Given the description of an element on the screen output the (x, y) to click on. 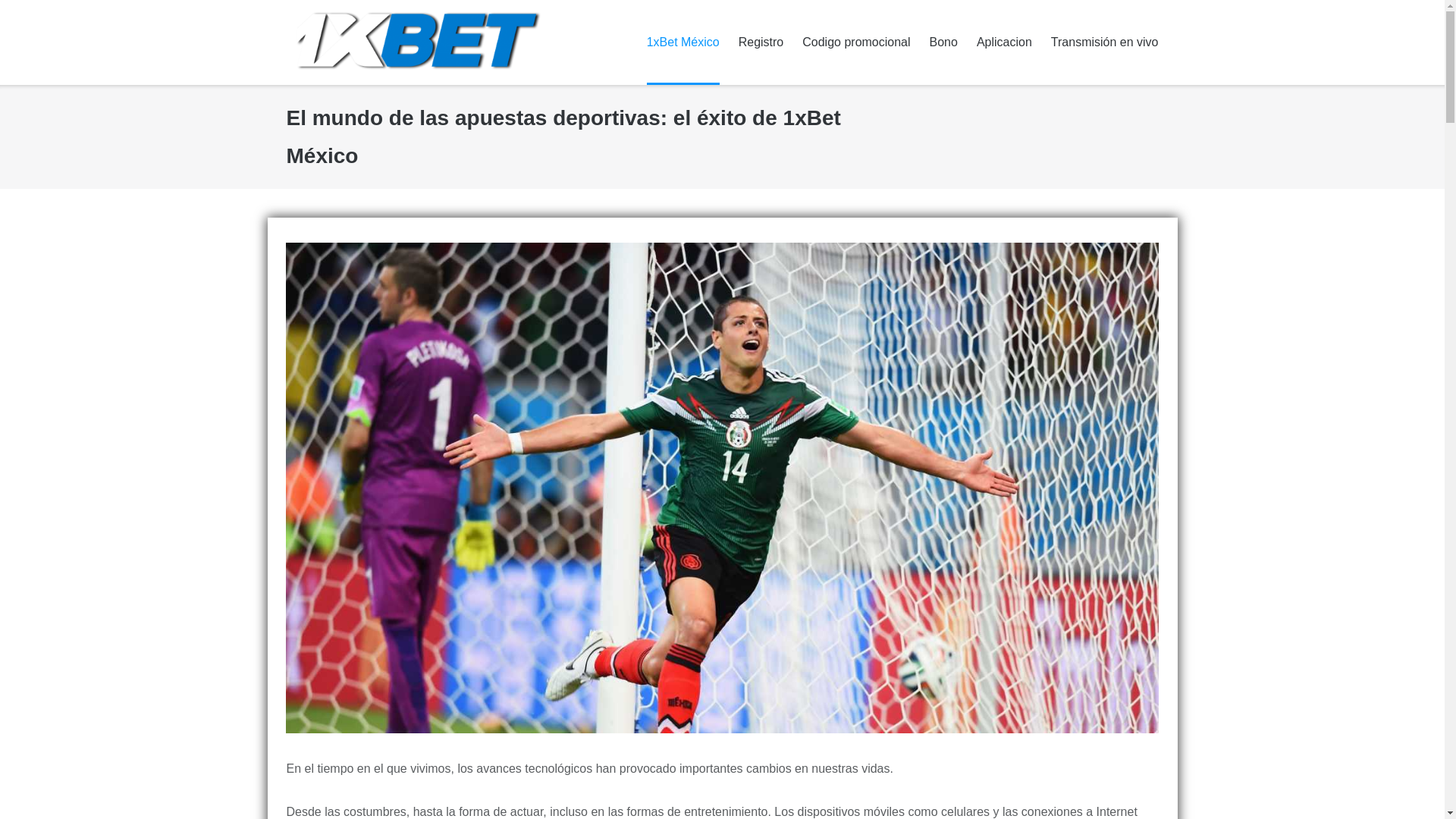
Codigo promocional Element type: text (856, 42)
Saltar al contenido Element type: text (0, 0)
Aplicacion Element type: text (1004, 42)
Registro Element type: text (761, 42)
Bono Element type: text (943, 42)
